Given the description of an element on the screen output the (x, y) to click on. 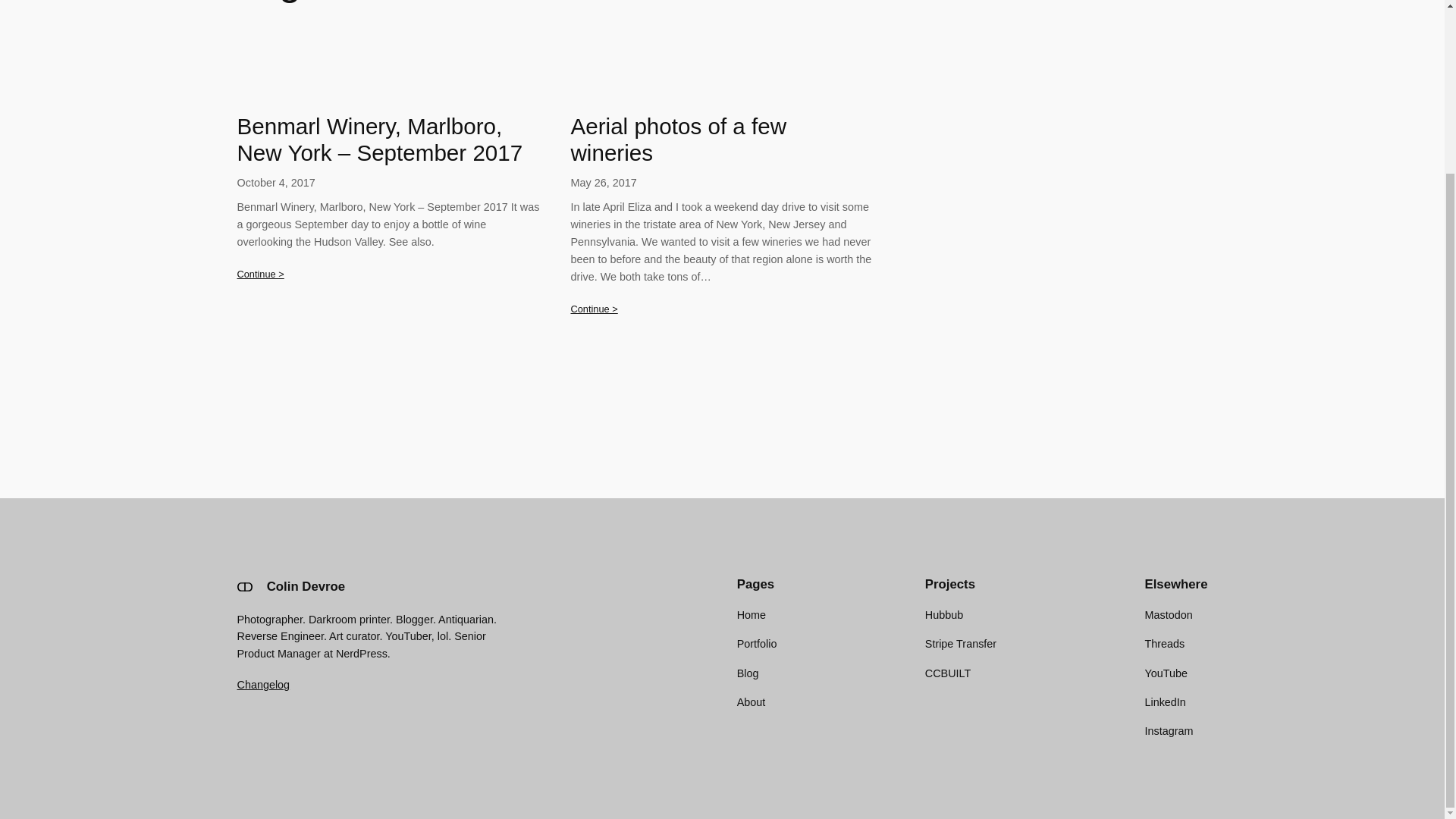
Aerial photos of a few wineries (721, 140)
YouTube (1166, 673)
Mastodon (1168, 614)
October 4, 2017 (274, 182)
Changelog (262, 684)
May 26, 2017 (603, 182)
Instagram (1168, 730)
Hubbub (943, 614)
Threads (1164, 643)
Portfolio (756, 643)
